Given the description of an element on the screen output the (x, y) to click on. 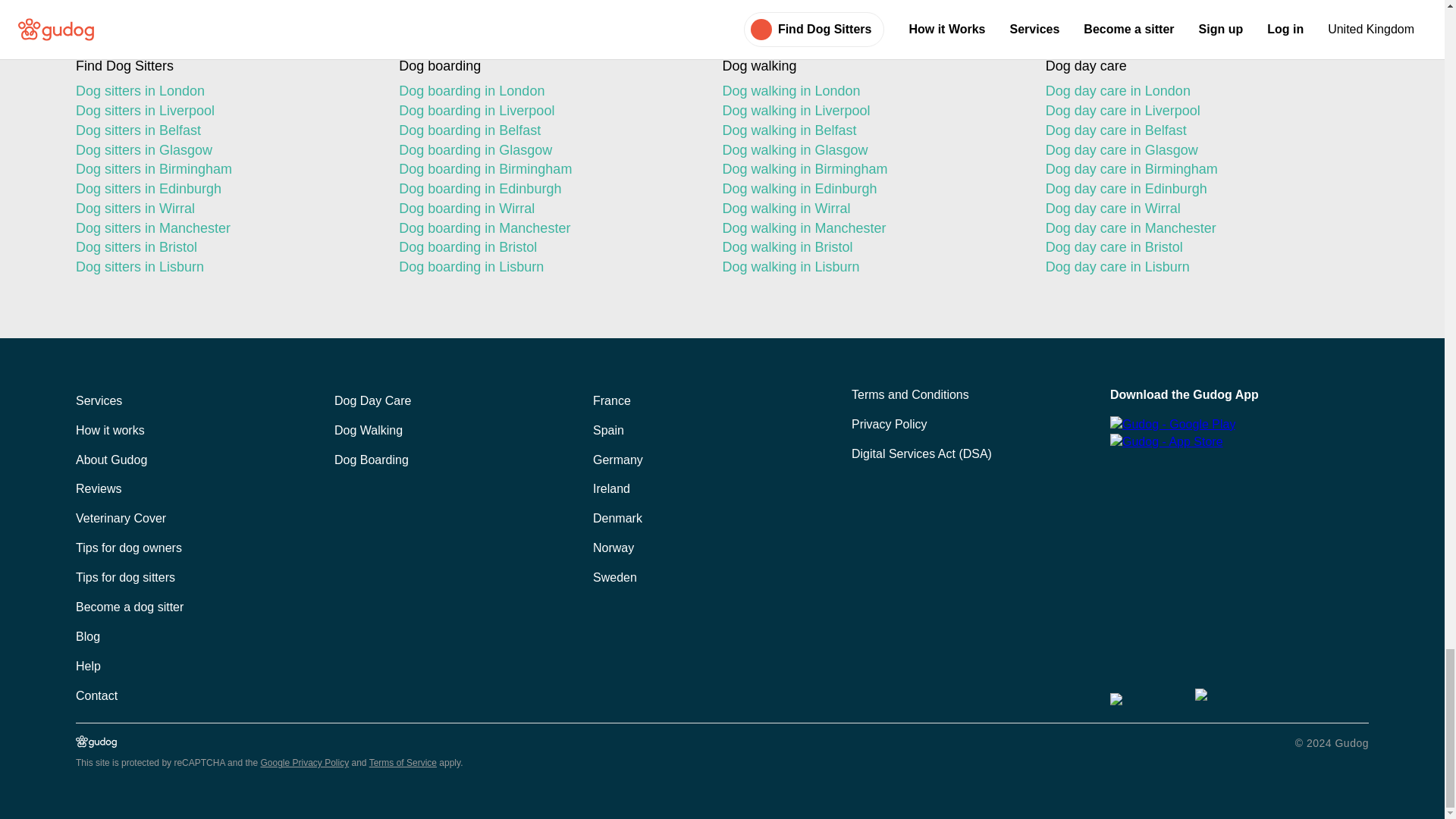
Dog sitters in Lisburn (224, 267)
Dog sitters in Liverpool (224, 111)
Dog boarding in London (547, 91)
Dog sitters in Bristol (224, 247)
Dog sitters in Belfast (224, 130)
Dog sitters in Manchester (224, 229)
Dog sitters in Glasgow (224, 150)
Dog sitters in Belfast (224, 130)
Dog sitters in Birmingham (224, 169)
Dog sitters in Liverpool (224, 111)
